Given the description of an element on the screen output the (x, y) to click on. 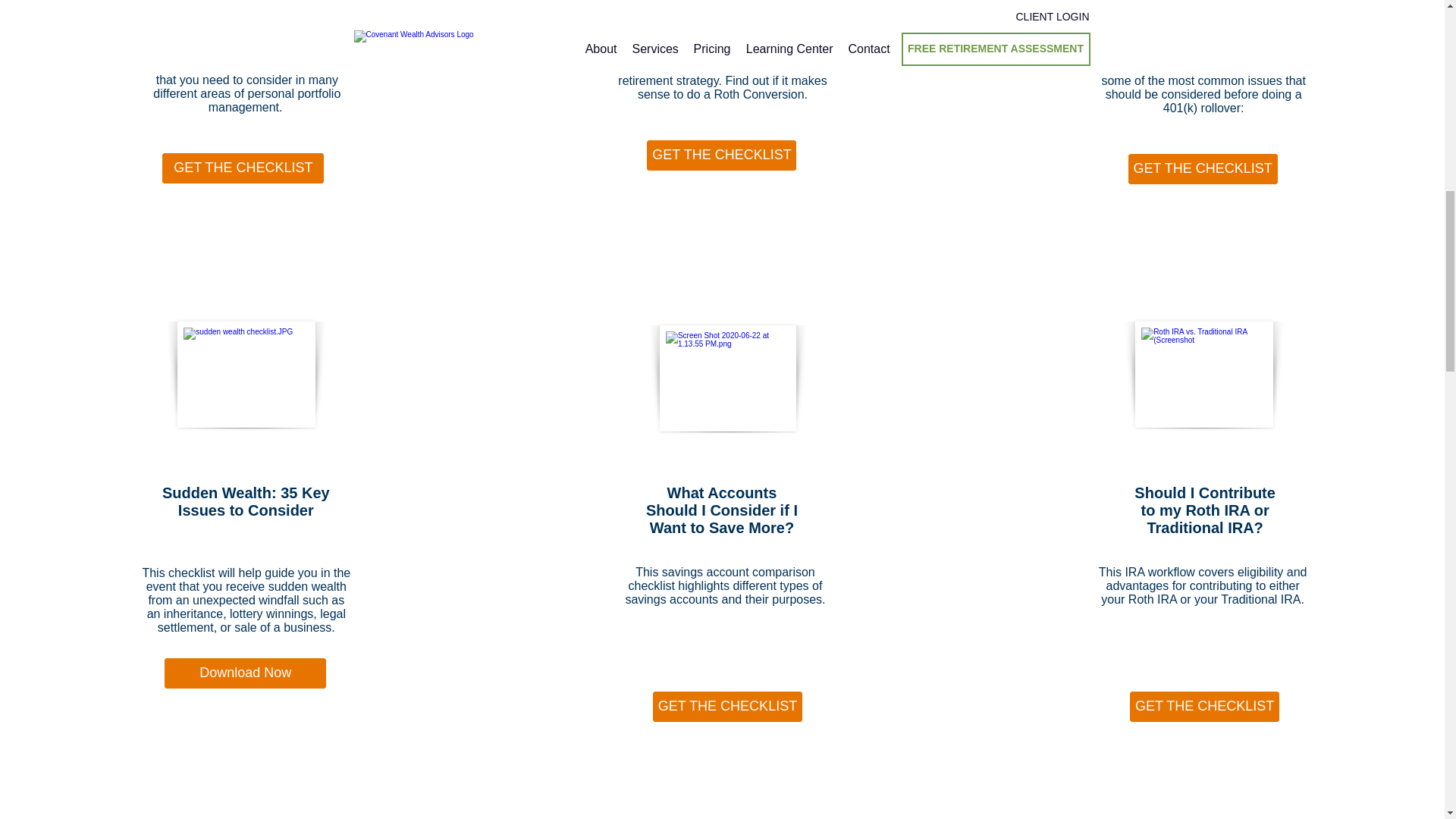
GET THE CHECKLIST (242, 168)
GET THE CHECKLIST (721, 155)
GET THE CHECKLIST (1203, 168)
Download Now (245, 673)
